Given the description of an element on the screen output the (x, y) to click on. 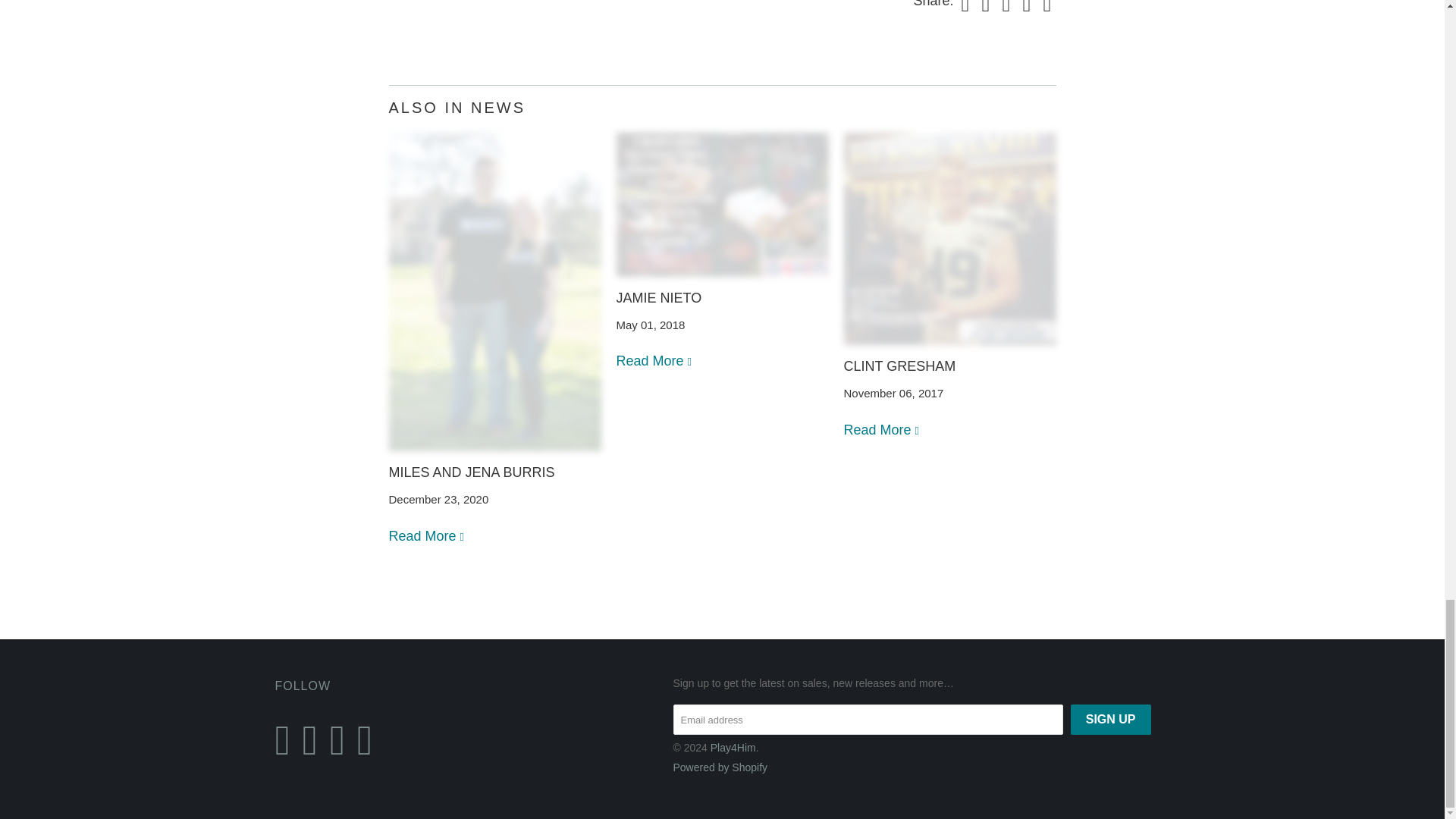
Miles and Jena Burris (471, 472)
Miles and Jena Burris (426, 535)
Read More (426, 535)
Sign Up (1110, 719)
MILES AND JENA BURRIS (471, 472)
